Given the description of an element on the screen output the (x, y) to click on. 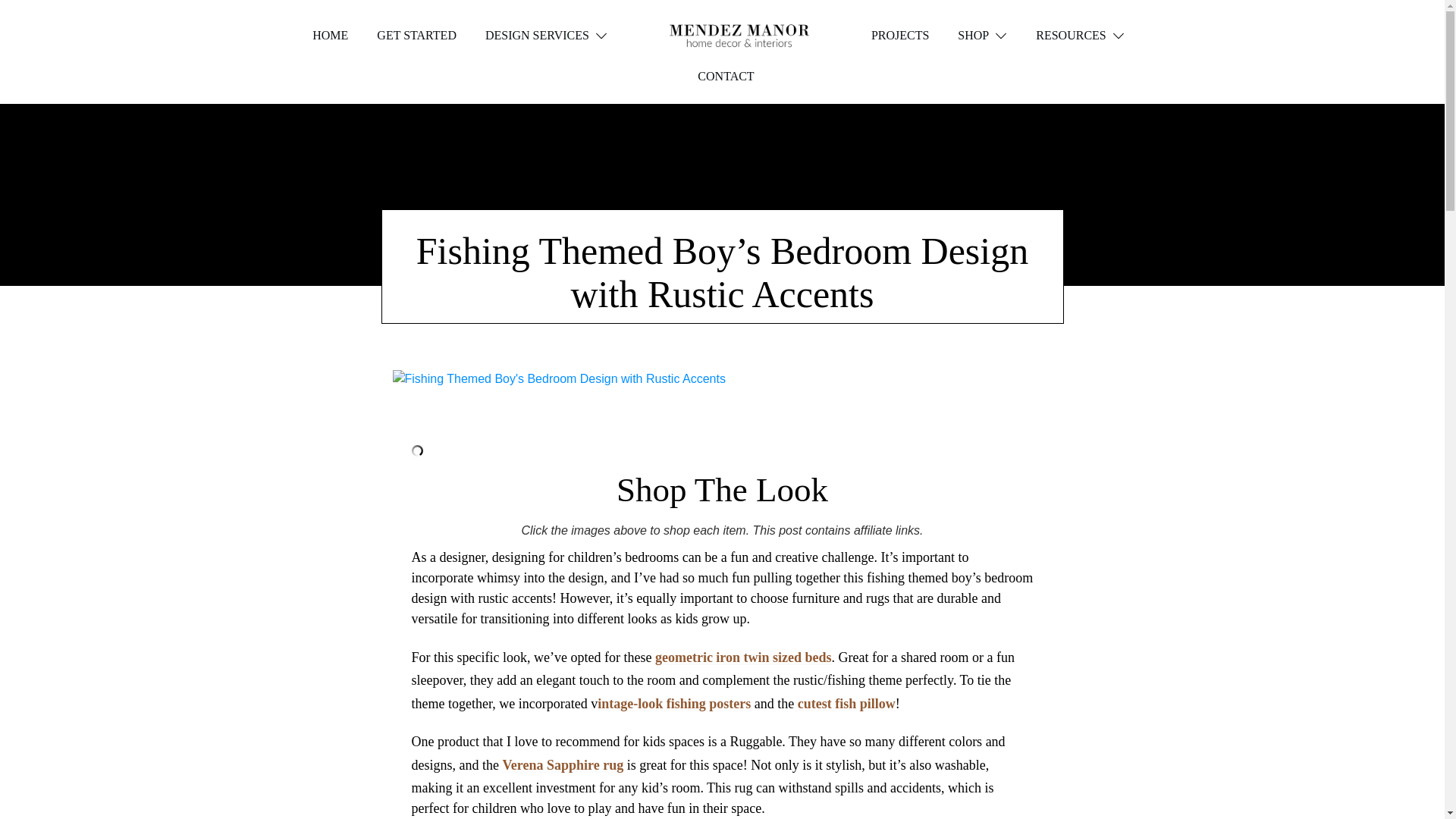
PROJECTS (899, 34)
cutest fish pillow (846, 703)
HOME (330, 34)
Verena Sapphire rug (562, 765)
geometric iron twin sized beds (743, 657)
GET STARTED (417, 34)
RESOURCES (1079, 34)
SHOP (982, 34)
DESIGN SERVICES (545, 34)
intage-look fishing posters (673, 703)
CONTACT (725, 75)
